Given the description of an element on the screen output the (x, y) to click on. 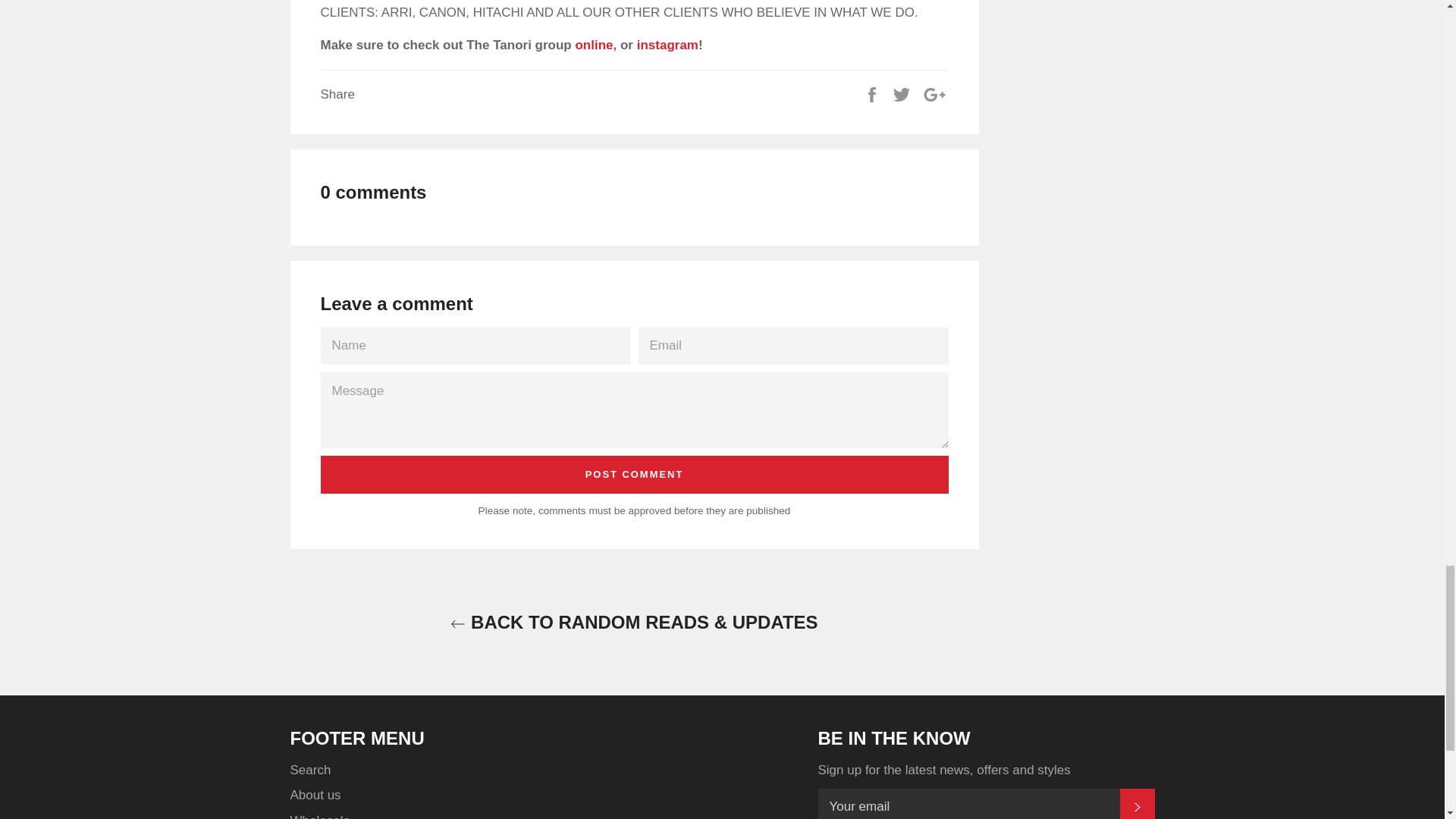
Share on Facebook (874, 93)
Tweet on Twitter (903, 93)
Tweet on Twitter (903, 93)
online (593, 44)
Post comment (633, 474)
instagram (667, 44)
Post comment (633, 474)
Share on Facebook (874, 93)
